Given the description of an element on the screen output the (x, y) to click on. 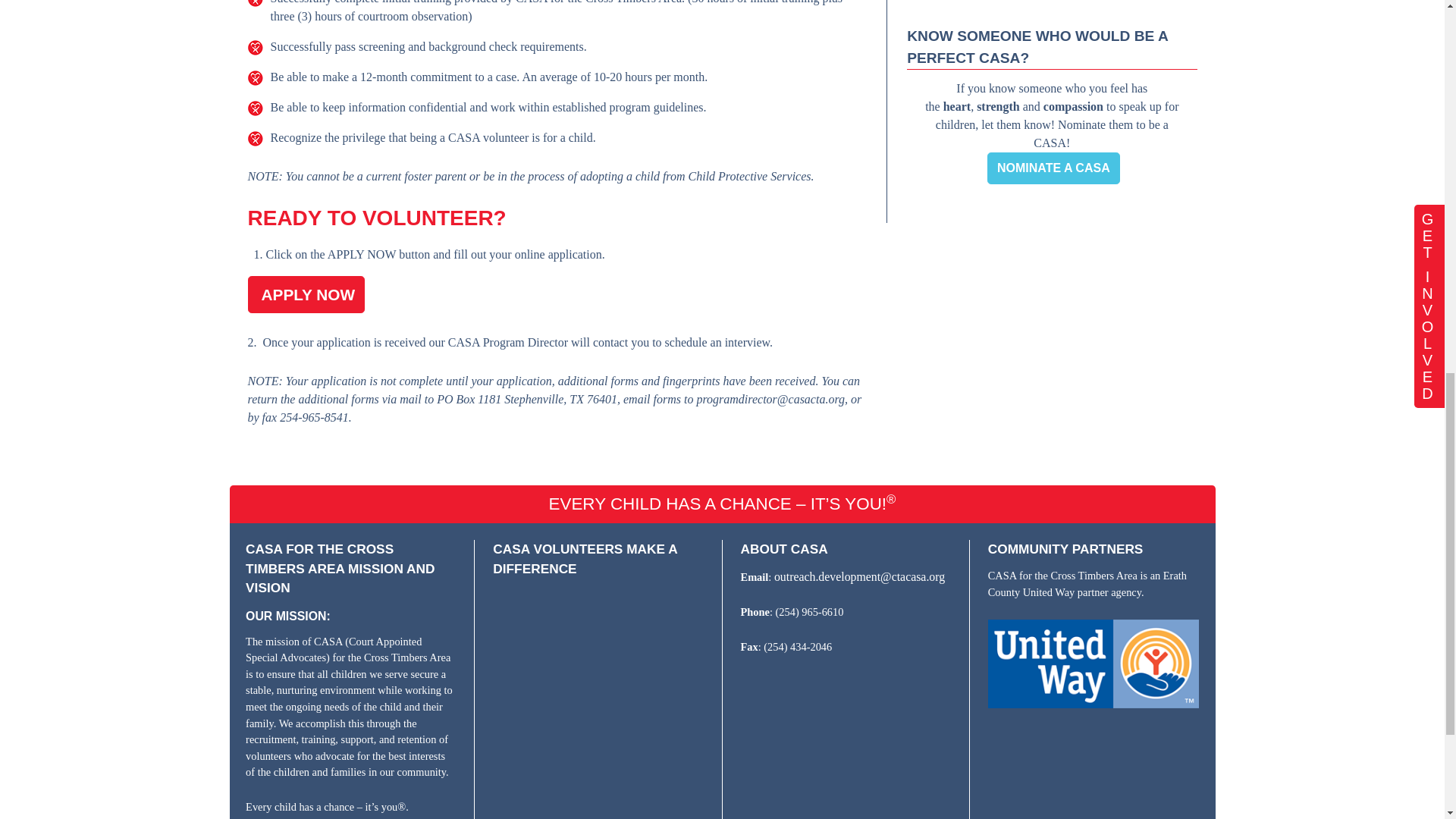
Every Child Has A Chance - It's YOU! (598, 658)
